Given the description of an element on the screen output the (x, y) to click on. 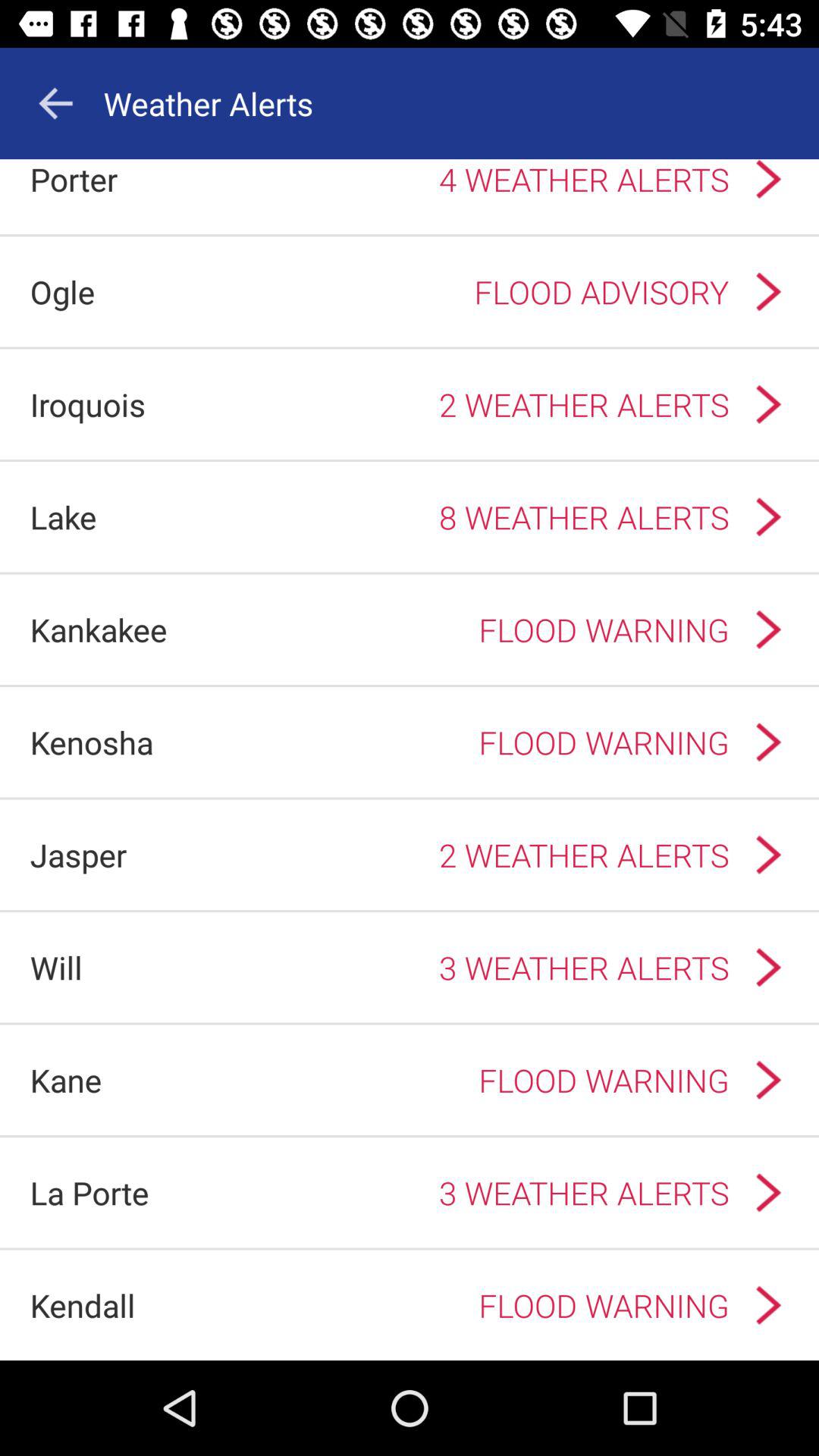
turn off icon above porter icon (55, 103)
